Given the description of an element on the screen output the (x, y) to click on. 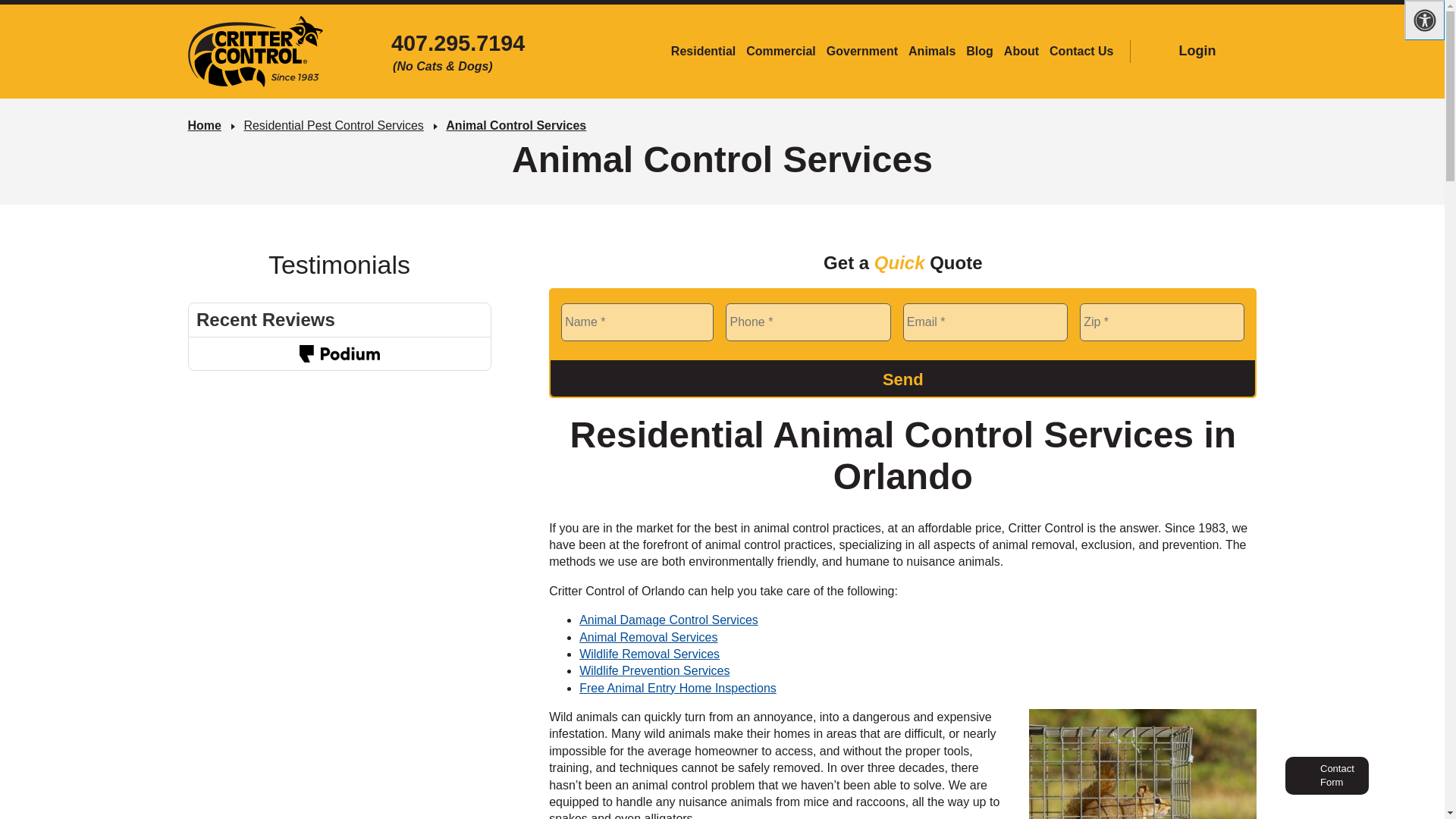
Animals (931, 51)
Government (861, 51)
Residential (703, 51)
Commercial (781, 51)
Send (902, 378)
